Given the description of an element on the screen output the (x, y) to click on. 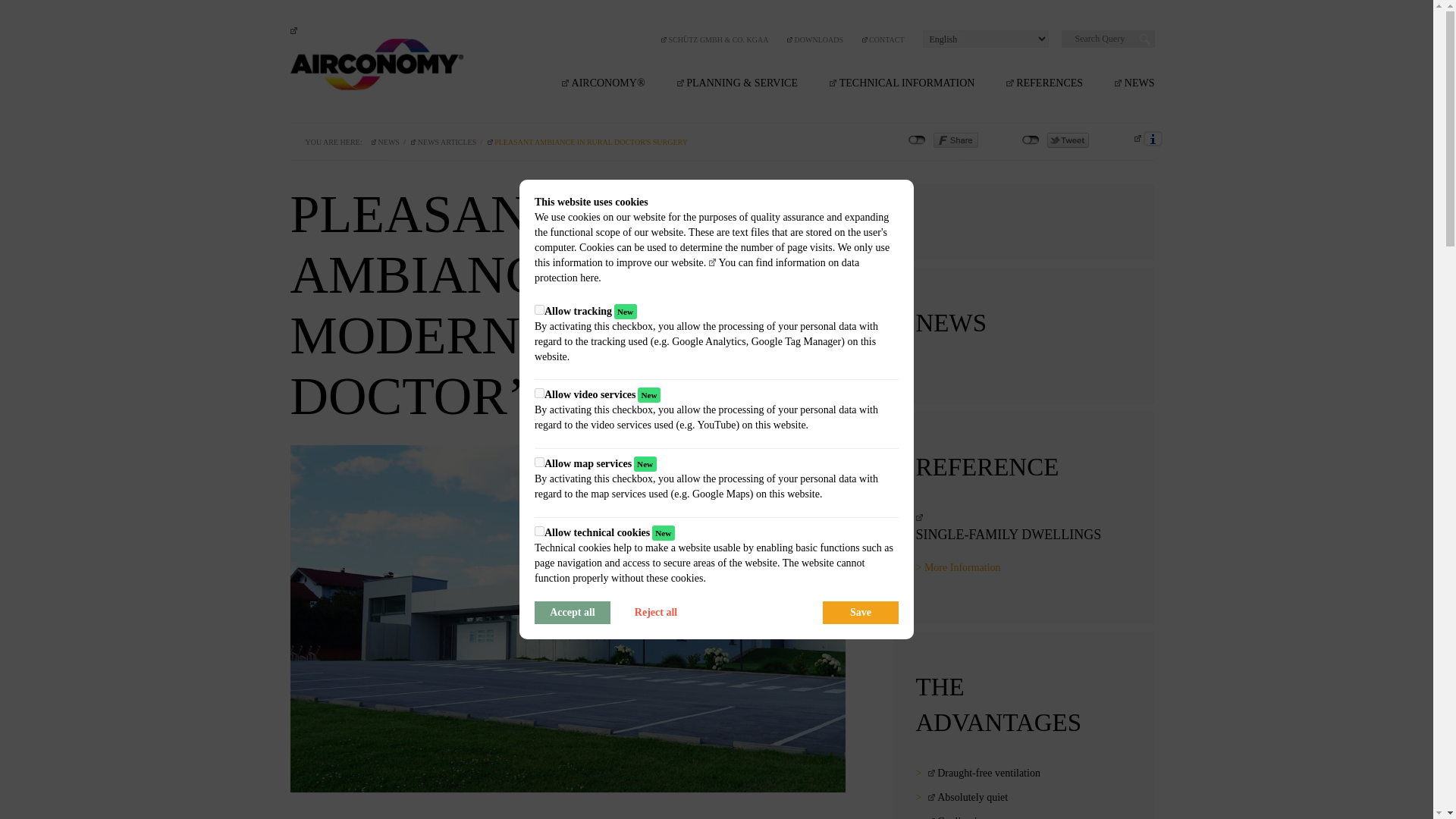
TECHNICAL INFORMATION (902, 83)
on (539, 393)
on (539, 531)
on (539, 309)
Search Query (1107, 38)
REFERENCES (1044, 83)
on (539, 461)
